Given the description of an element on the screen output the (x, y) to click on. 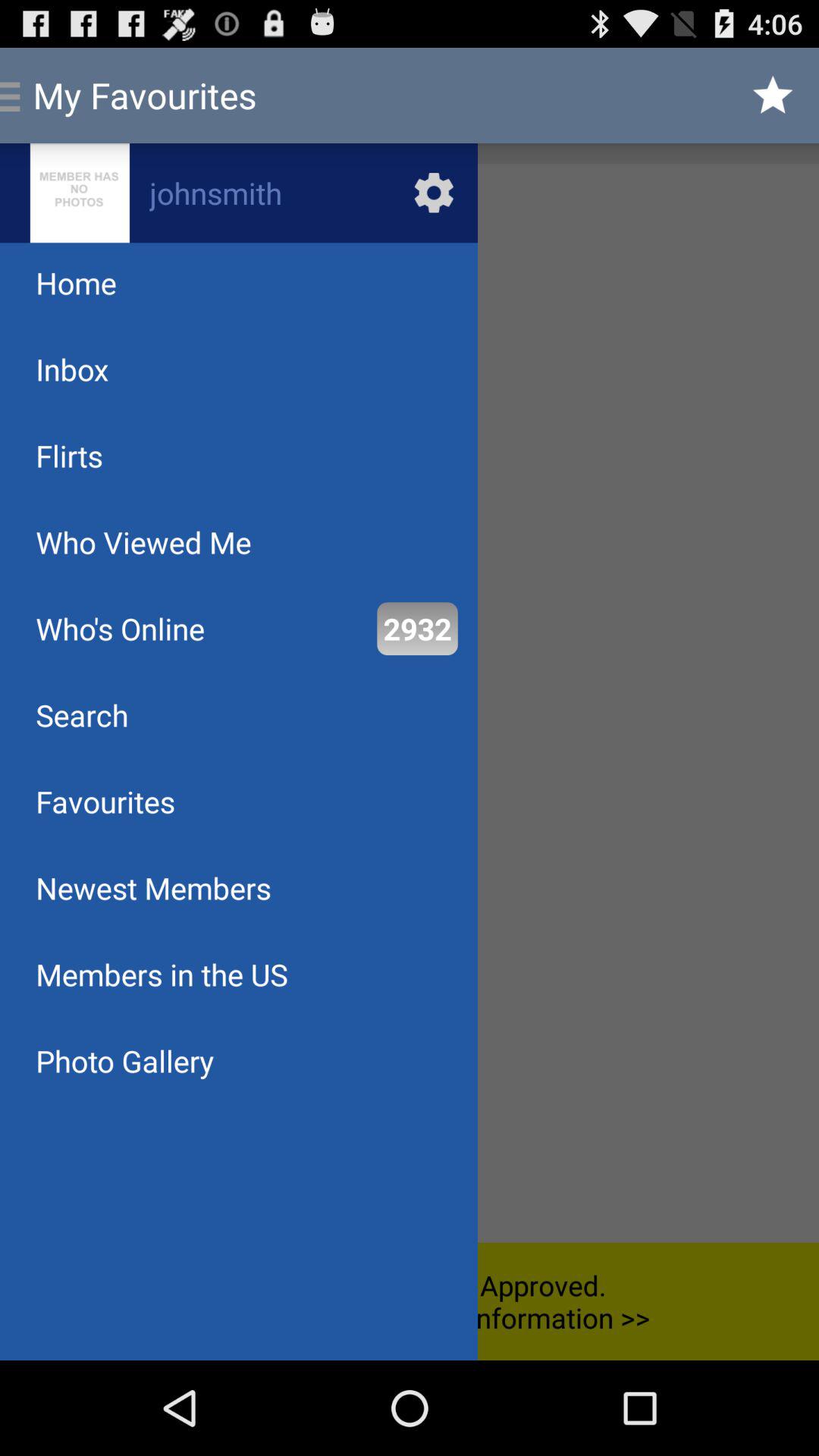
select the item below my favourites icon (238, 192)
